Given the description of an element on the screen output the (x, y) to click on. 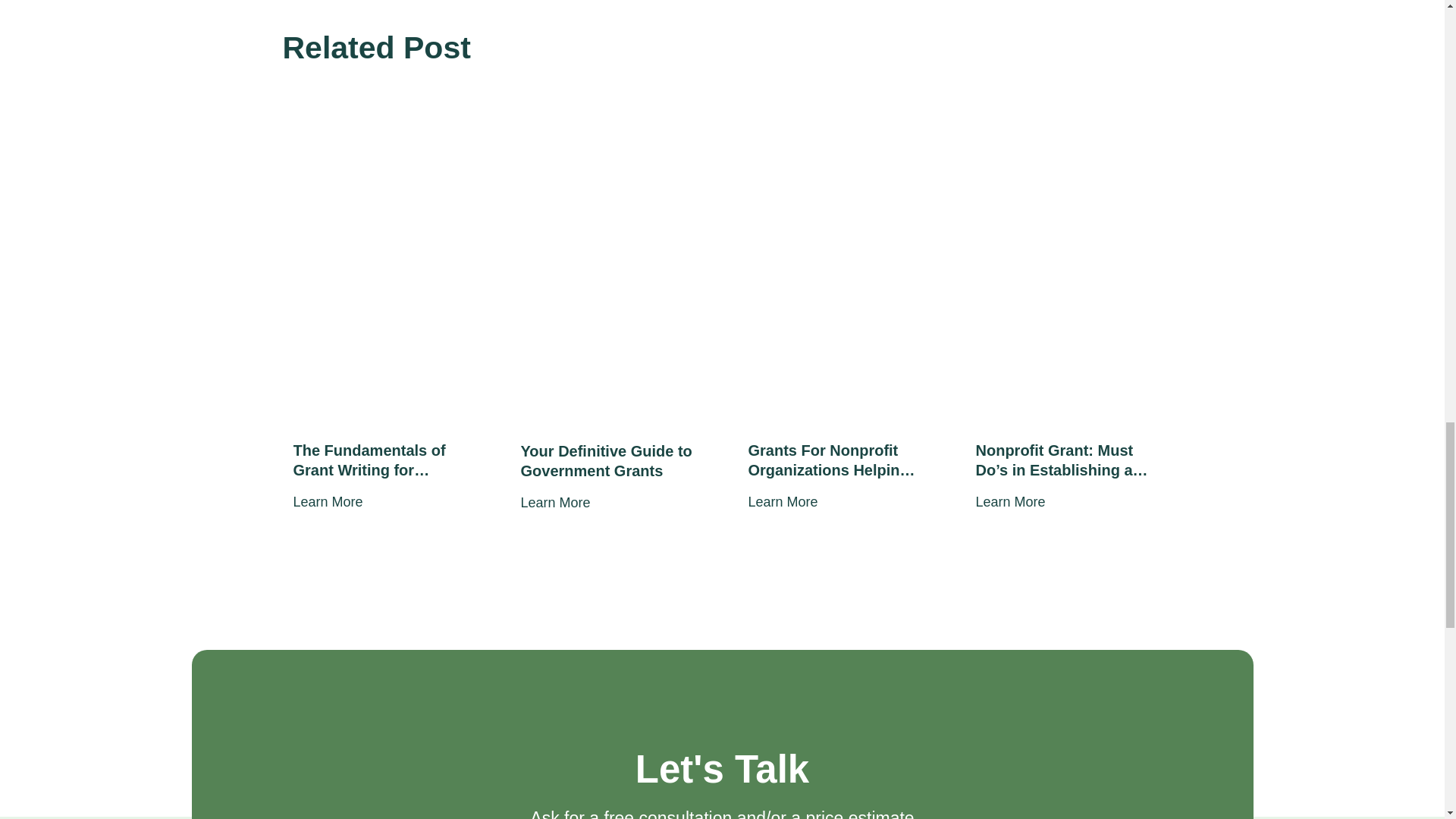
Learn More (782, 501)
Learn More (1010, 501)
Grants For Nonprofit Organizations Helping Senior Citizens (835, 459)
Learn More (327, 501)
Your Definitive Guide to Government Grants (607, 460)
Learn More (554, 502)
